Given the description of an element on the screen output the (x, y) to click on. 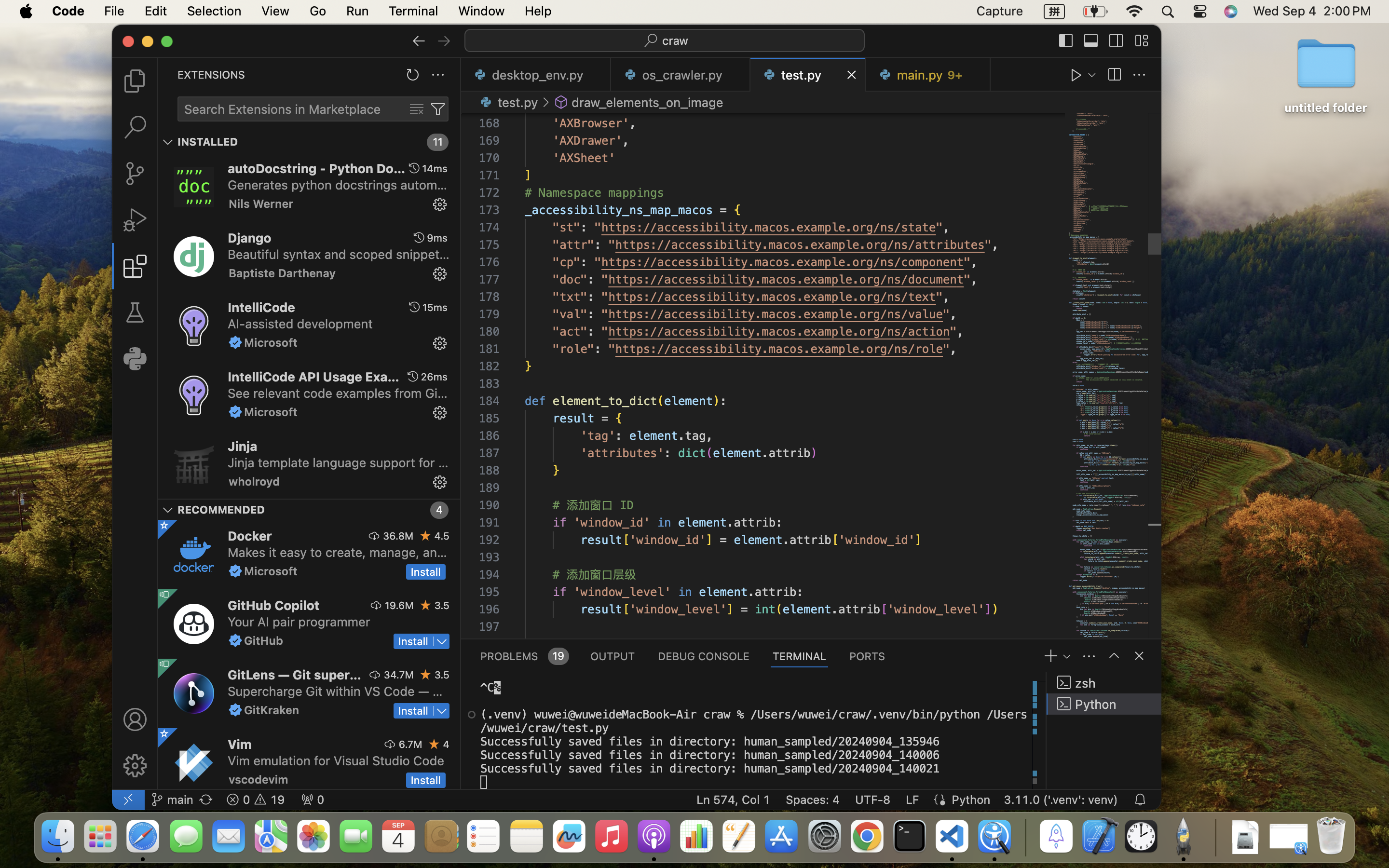
Python  Element type: AXGroup (1103, 703)
